Given the description of an element on the screen output the (x, y) to click on. 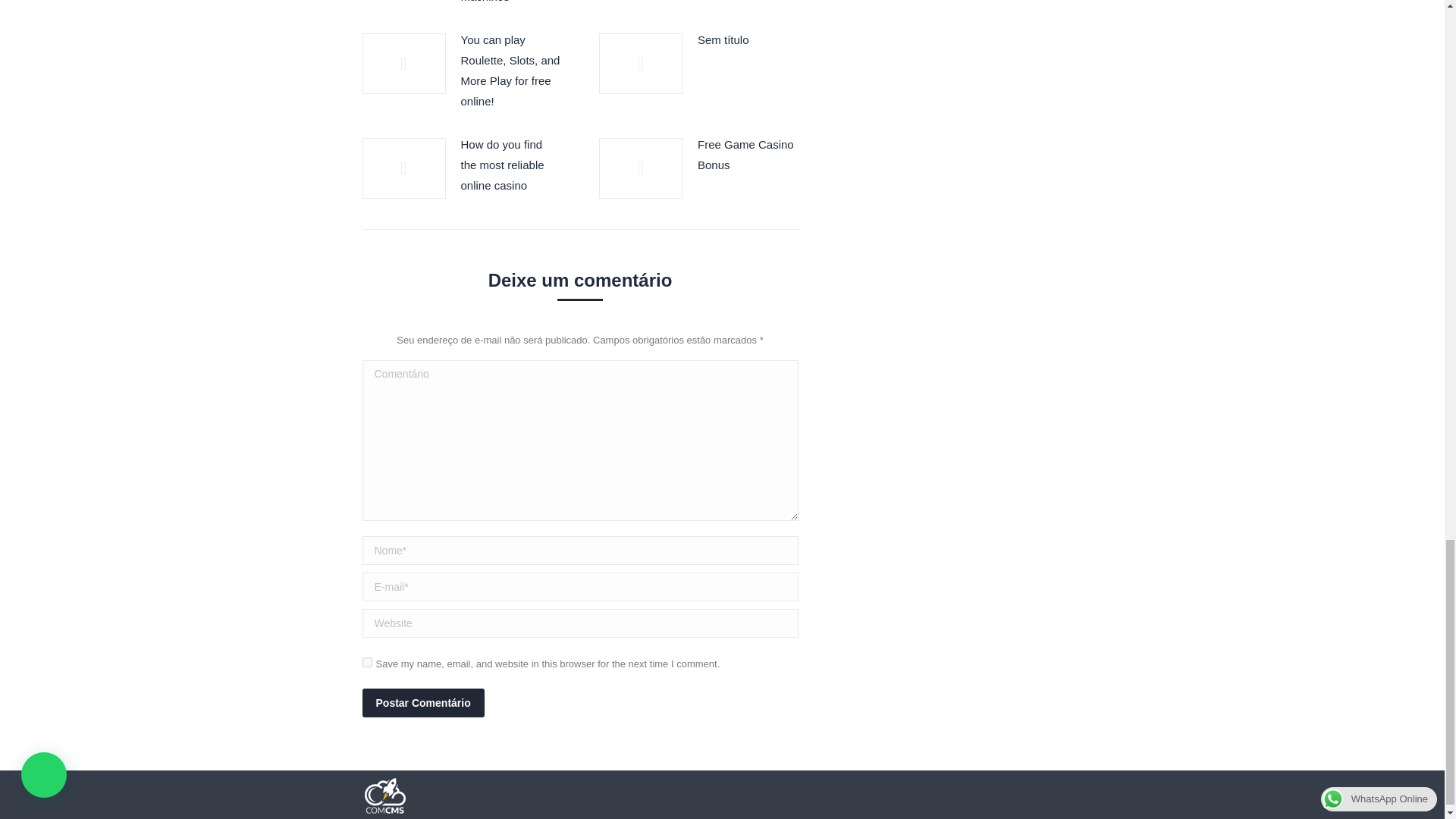
Online Slot Reviews Can Help You Choose Machines (511, 3)
yes (367, 662)
You can play Roulette, Slots, and More Play for free online! (511, 70)
